Given the description of an element on the screen output the (x, y) to click on. 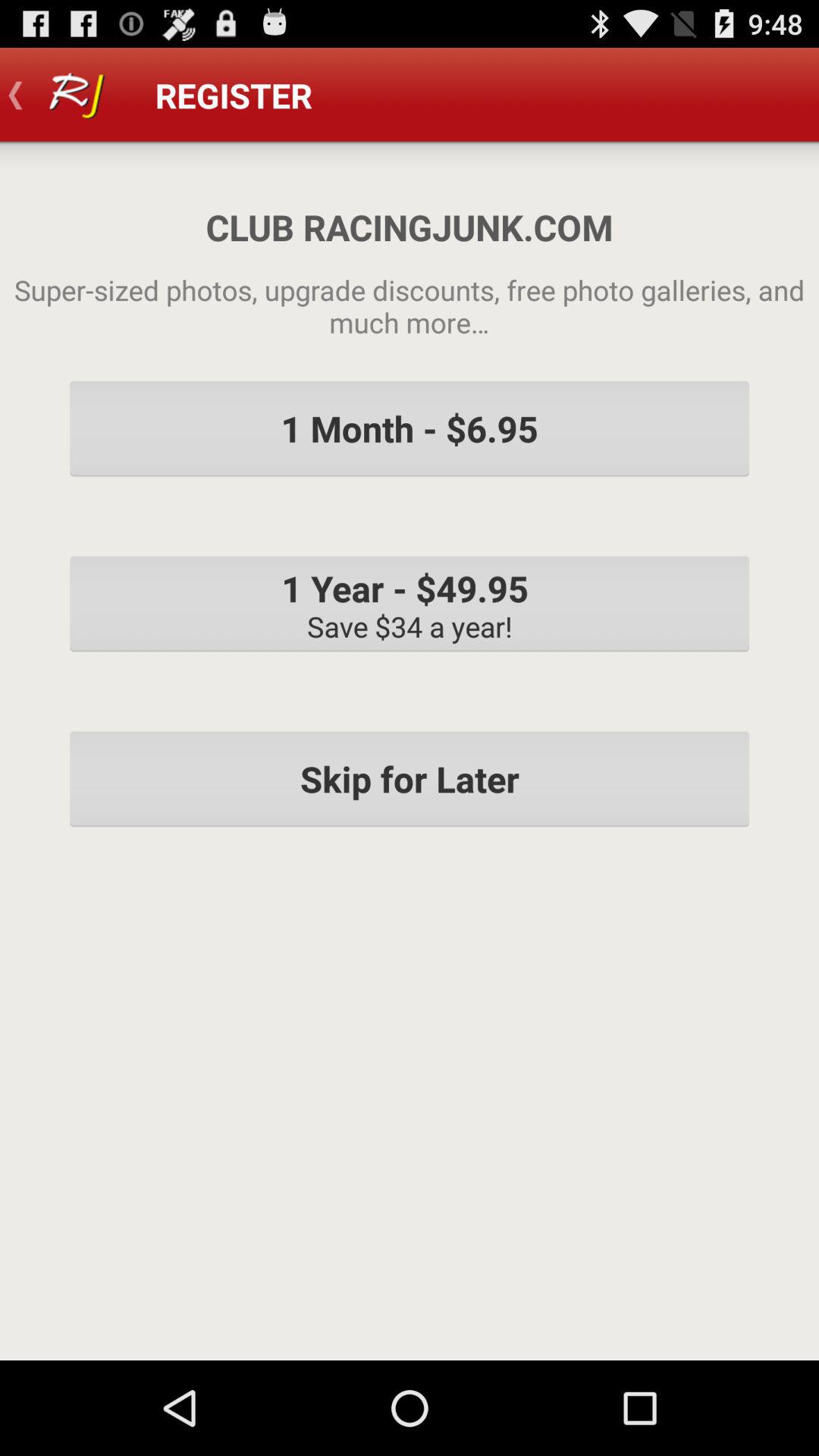
turn off the icon below 1 year 49 button (409, 778)
